Given the description of an element on the screen output the (x, y) to click on. 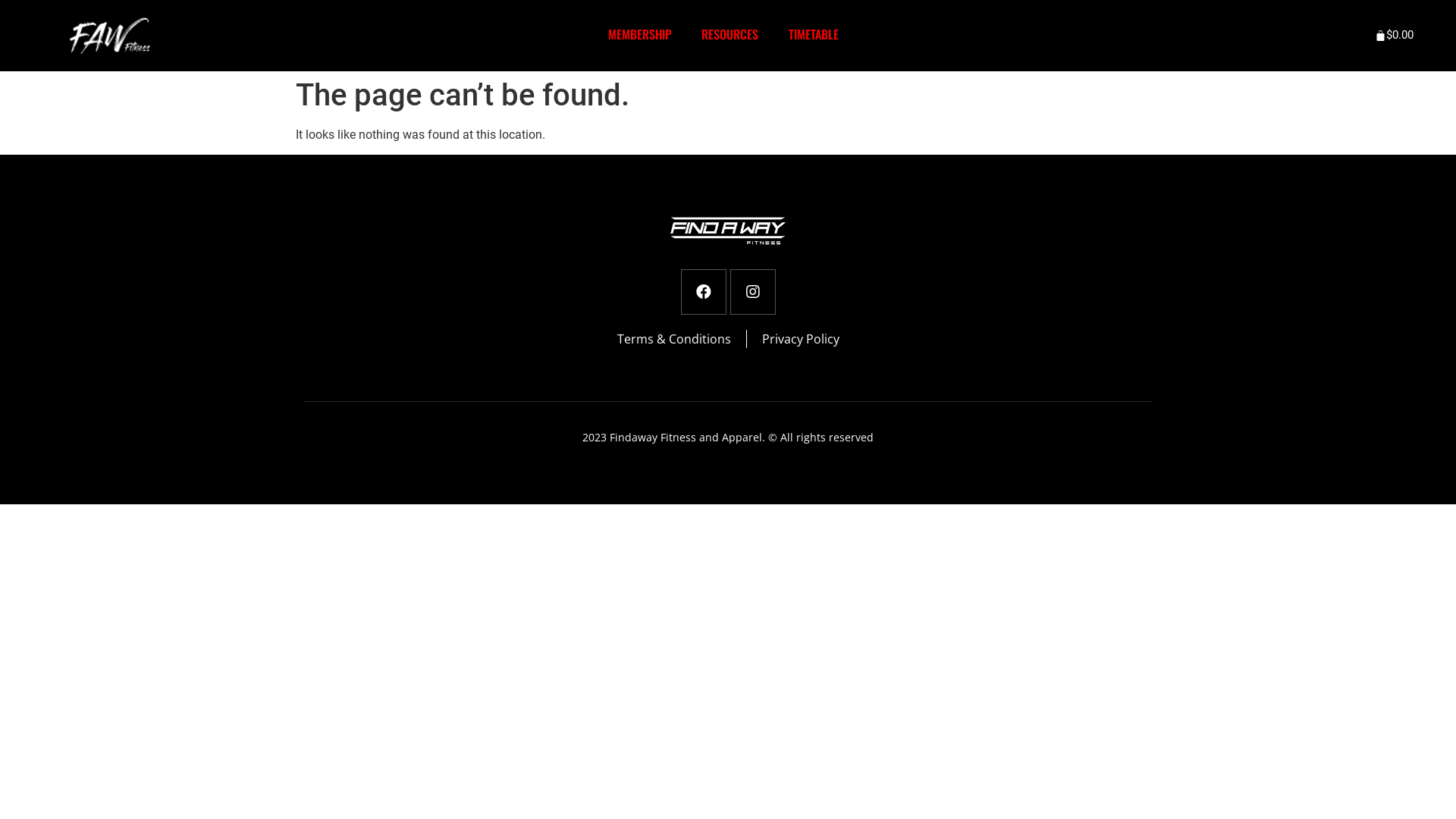
TIMETABLE Element type: text (813, 34)
MEMBERSHIP Element type: text (639, 34)
Privacy Policy Element type: text (799, 338)
RESOURCES Element type: text (729, 34)
$0.00 Element type: text (1395, 35)
Terms & Conditions Element type: text (674, 338)
